Given the description of an element on the screen output the (x, y) to click on. 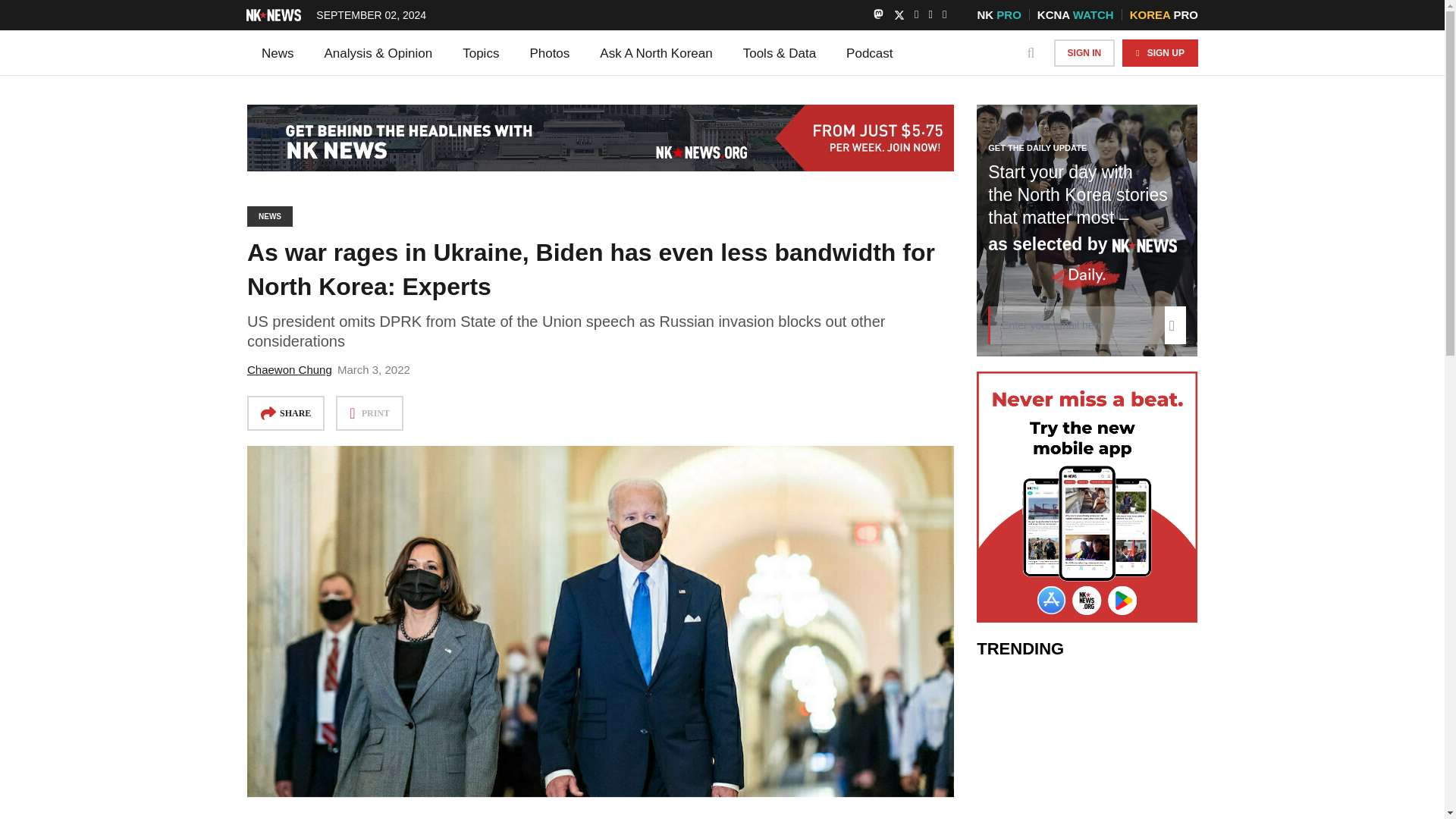
KOREA PRO (1163, 14)
NK PRO (998, 14)
KCNA WATCH (1074, 14)
